Given the description of an element on the screen output the (x, y) to click on. 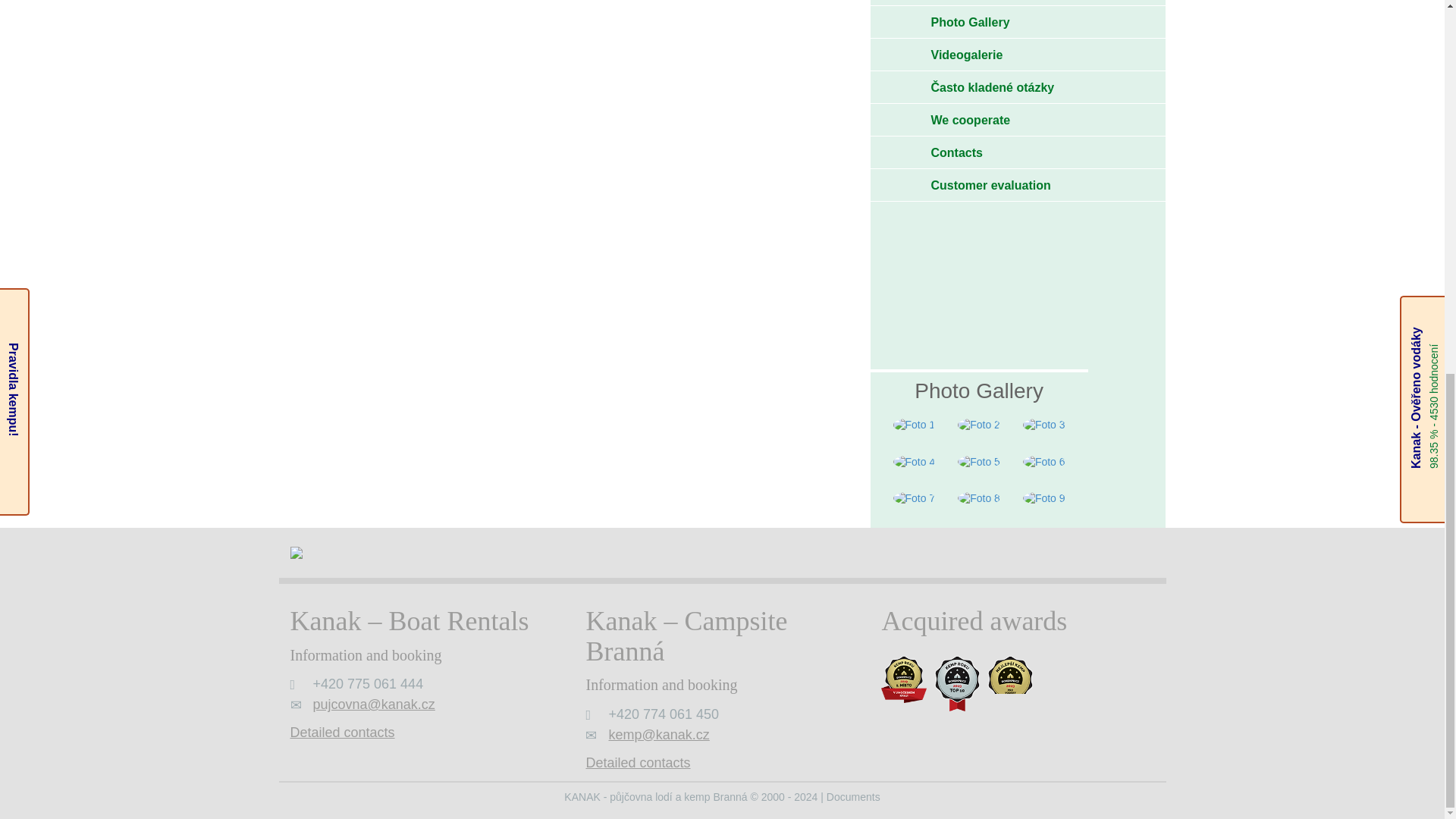
Photo Gallery (978, 390)
Customer evaluation (1018, 185)
Photo Gallery (1018, 22)
We cooperate (1018, 120)
Contacts (1018, 153)
Videogalerie (1018, 55)
